Given the description of an element on the screen output the (x, y) to click on. 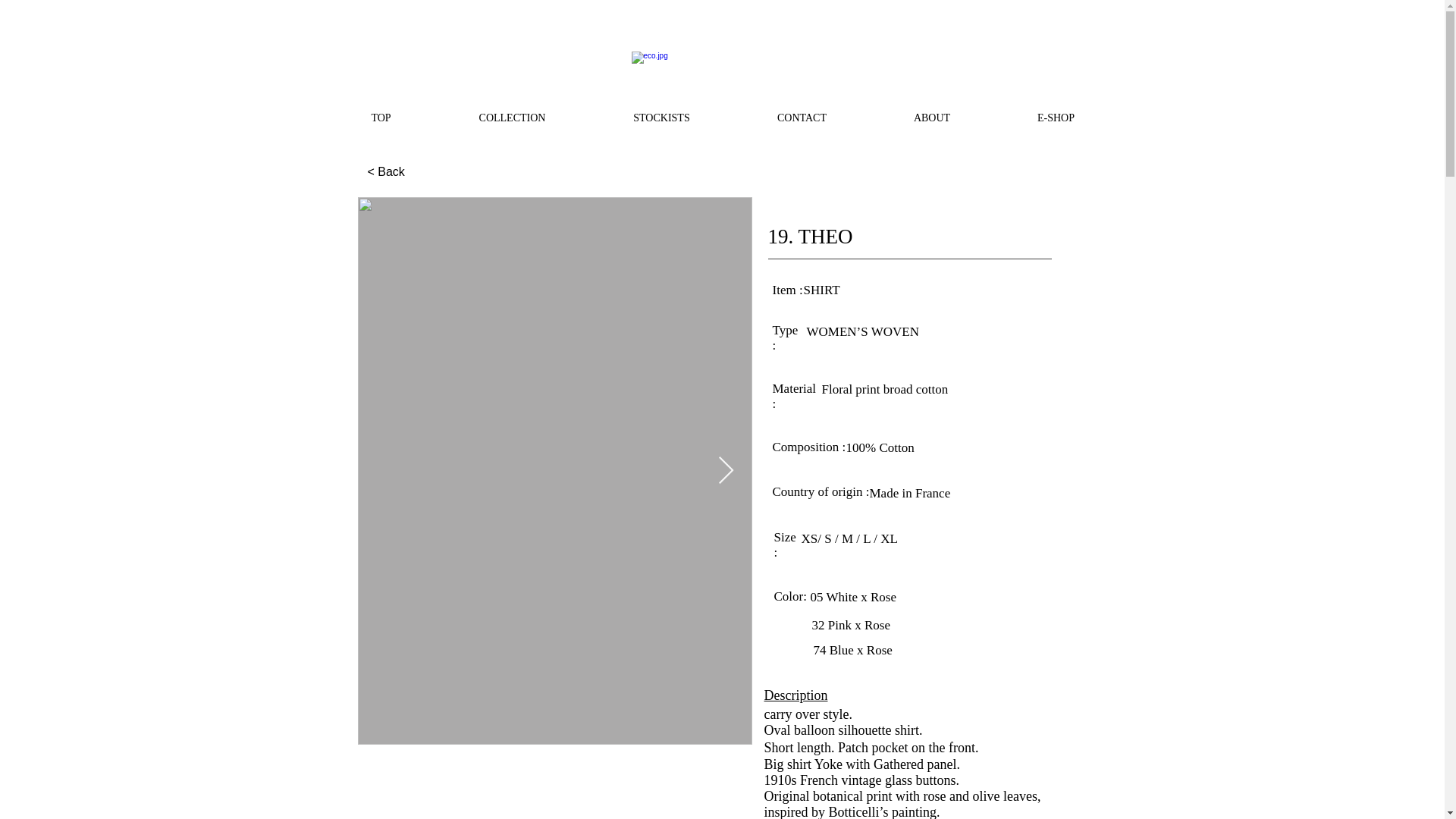
CONTACT (801, 117)
STOCKISTS (661, 117)
TOP (381, 117)
ABOUT (932, 117)
COLLECTION (512, 117)
E-SHOP (1055, 117)
